Given the description of an element on the screen output the (x, y) to click on. 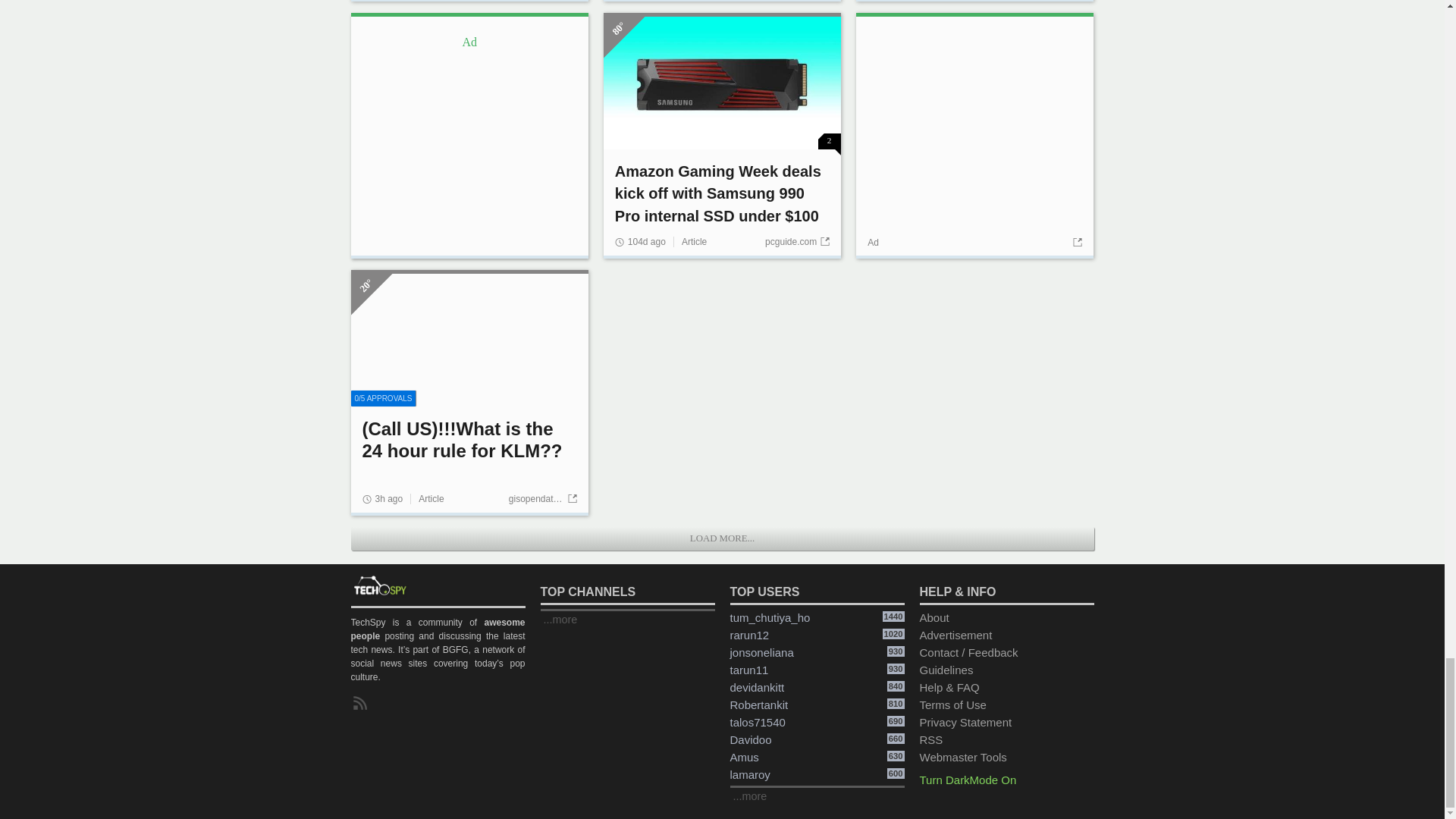
Go to source: gisopendata.pima.gov (542, 498)
Go to source: pcguide.com (797, 241)
RSS Feed (362, 703)
Go to source (1074, 242)
